Given the description of an element on the screen output the (x, y) to click on. 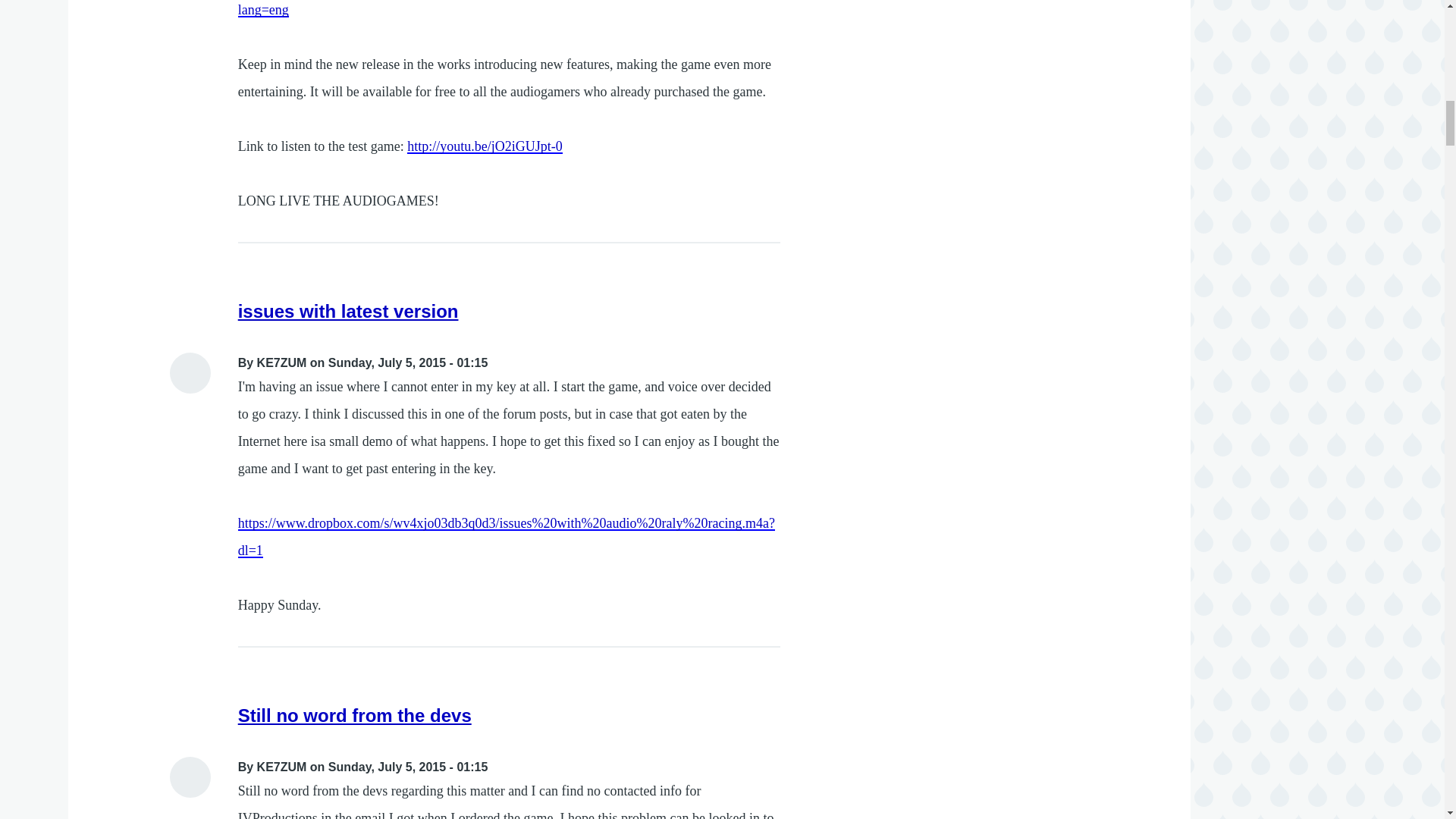
issues with latest version (348, 311)
Still no word from the devs (354, 715)
